Given the description of an element on the screen output the (x, y) to click on. 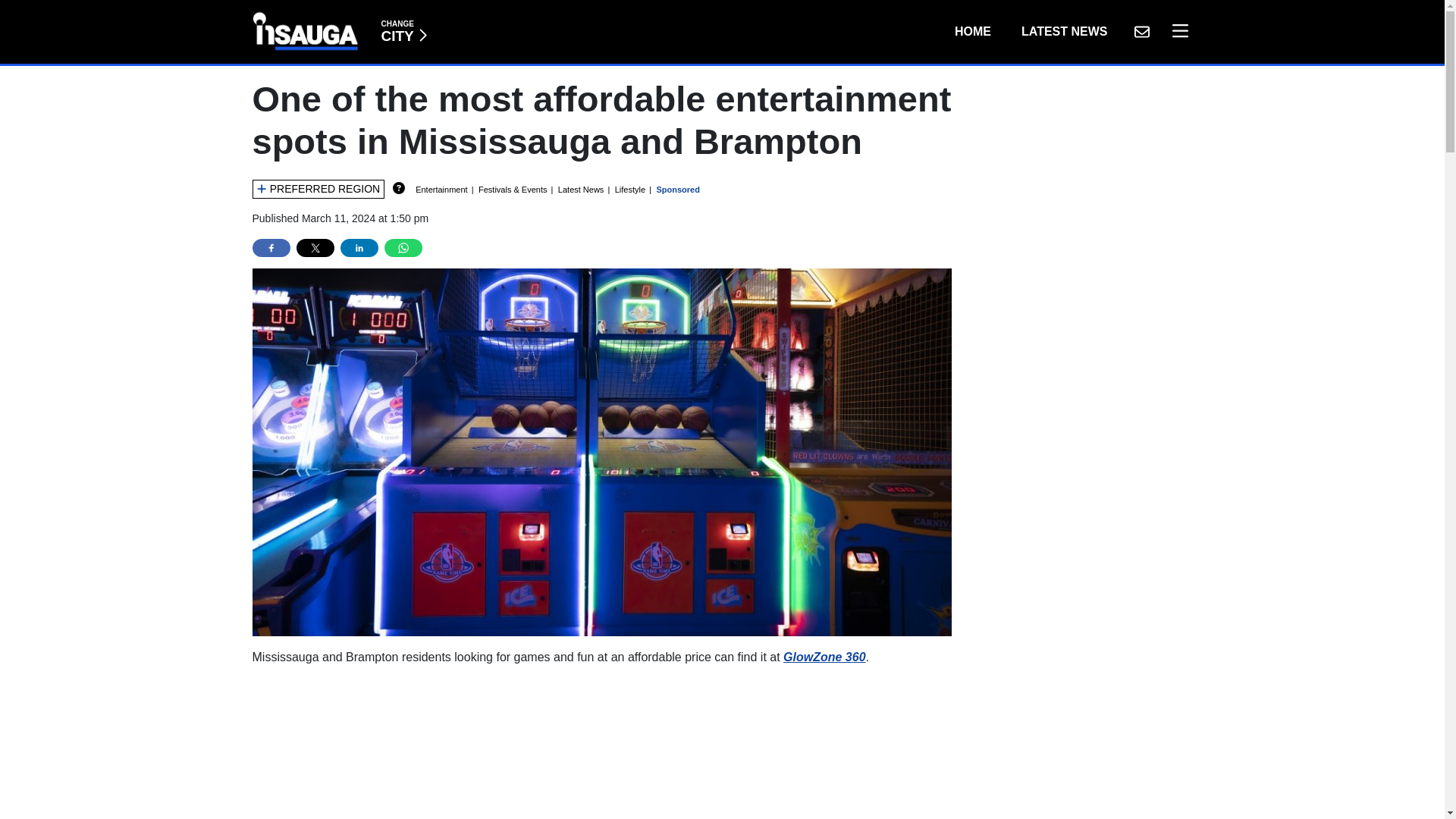
SIGN UP FOR OUR NEWSLETTER (1141, 31)
YouTube video player (464, 742)
HOME (402, 31)
OPEN MENU (972, 31)
LATEST NEWS (1176, 31)
